Given the description of an element on the screen output the (x, y) to click on. 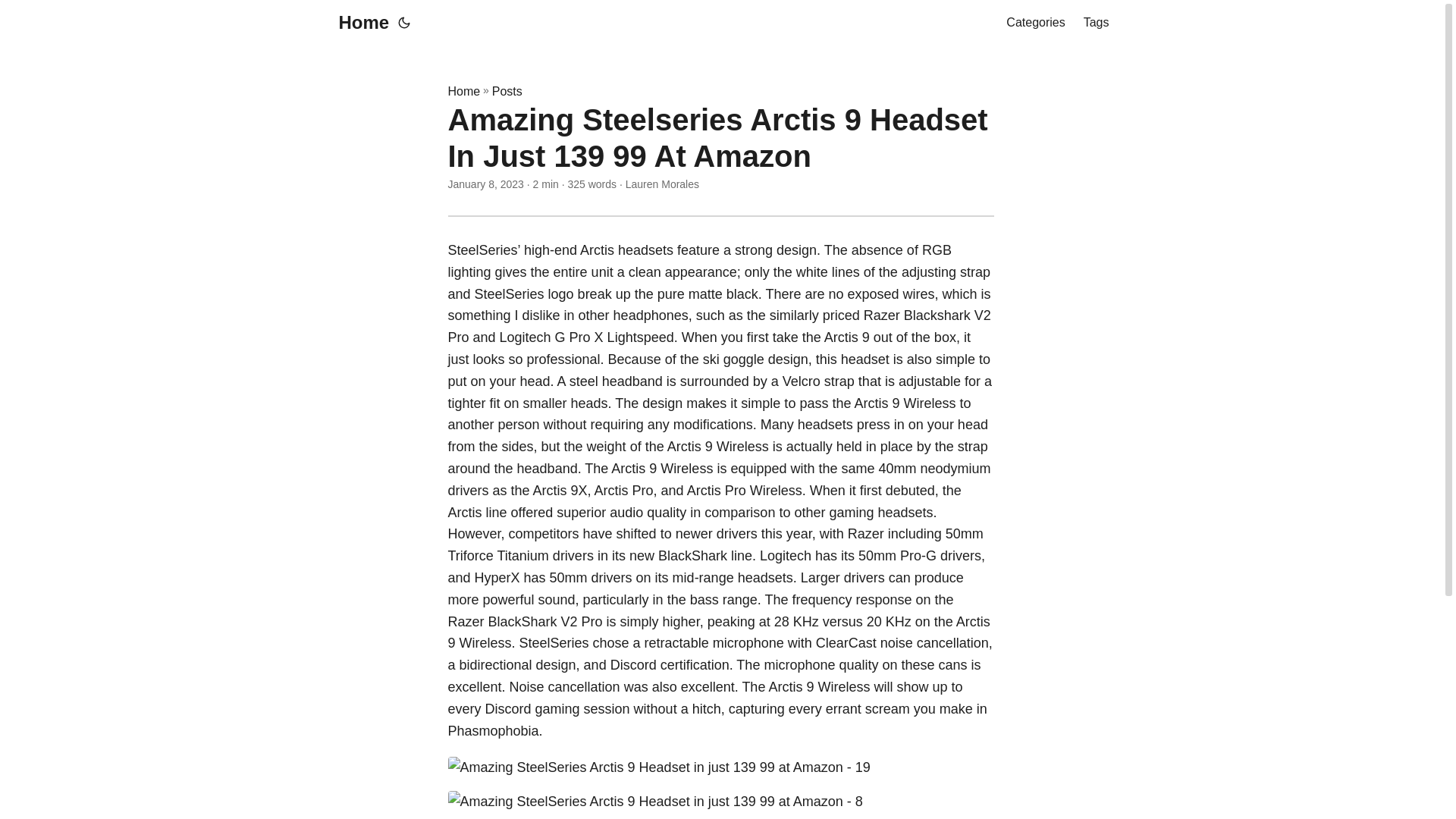
Home (359, 22)
Posts (507, 91)
Home (463, 91)
Categories (1035, 22)
Categories (1035, 22)
